Given the description of an element on the screen output the (x, y) to click on. 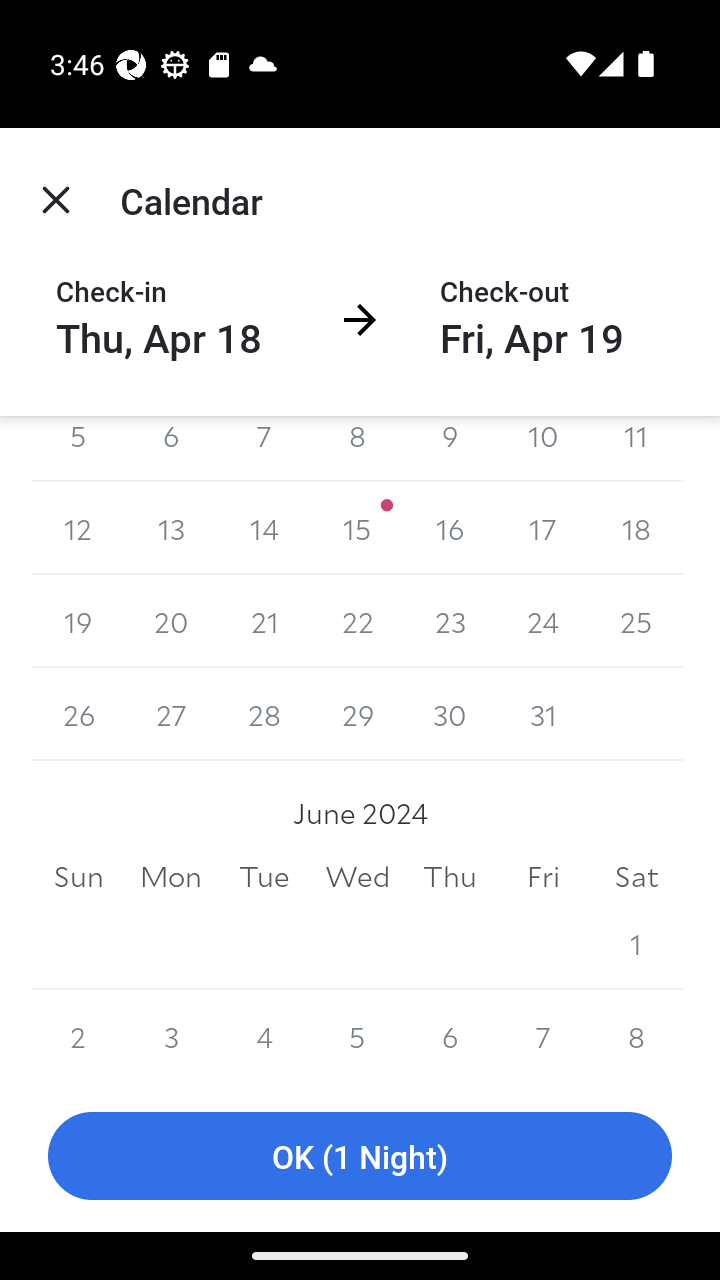
5 5 May 2024 (78, 449)
6 6 May 2024 (171, 449)
7 7 May 2024 (264, 449)
8 8 May 2024 (357, 449)
9 9 May 2024 (449, 449)
10 10 May 2024 (542, 449)
11 11 May 2024 (636, 449)
12 12 May 2024 (78, 528)
13 13 May 2024 (171, 528)
14 14 May 2024 (264, 528)
15 15 May 2024 (357, 528)
16 16 May 2024 (449, 528)
17 17 May 2024 (542, 528)
18 18 May 2024 (636, 528)
19 19 May 2024 (78, 621)
20 20 May 2024 (171, 621)
21 21 May 2024 (264, 621)
22 22 May 2024 (357, 621)
23 23 May 2024 (449, 621)
24 24 May 2024 (542, 621)
25 25 May 2024 (636, 621)
26 26 May 2024 (78, 714)
27 27 May 2024 (171, 714)
28 28 May 2024 (264, 714)
29 29 May 2024 (357, 714)
30 30 May 2024 (449, 714)
31 31 May 2024 (542, 714)
Sun (78, 876)
Mon (171, 876)
Tue (264, 876)
Wed (357, 876)
Thu (449, 876)
Fri (542, 876)
Sat (636, 876)
1 1 June 2024 (636, 943)
2 2 June 2024 (78, 1034)
3 3 June 2024 (171, 1034)
4 4 June 2024 (264, 1034)
5 5 June 2024 (357, 1034)
6 6 June 2024 (449, 1034)
7 7 June 2024 (542, 1034)
8 8 June 2024 (636, 1034)
OK (1 Night) (359, 1156)
